Given the description of an element on the screen output the (x, y) to click on. 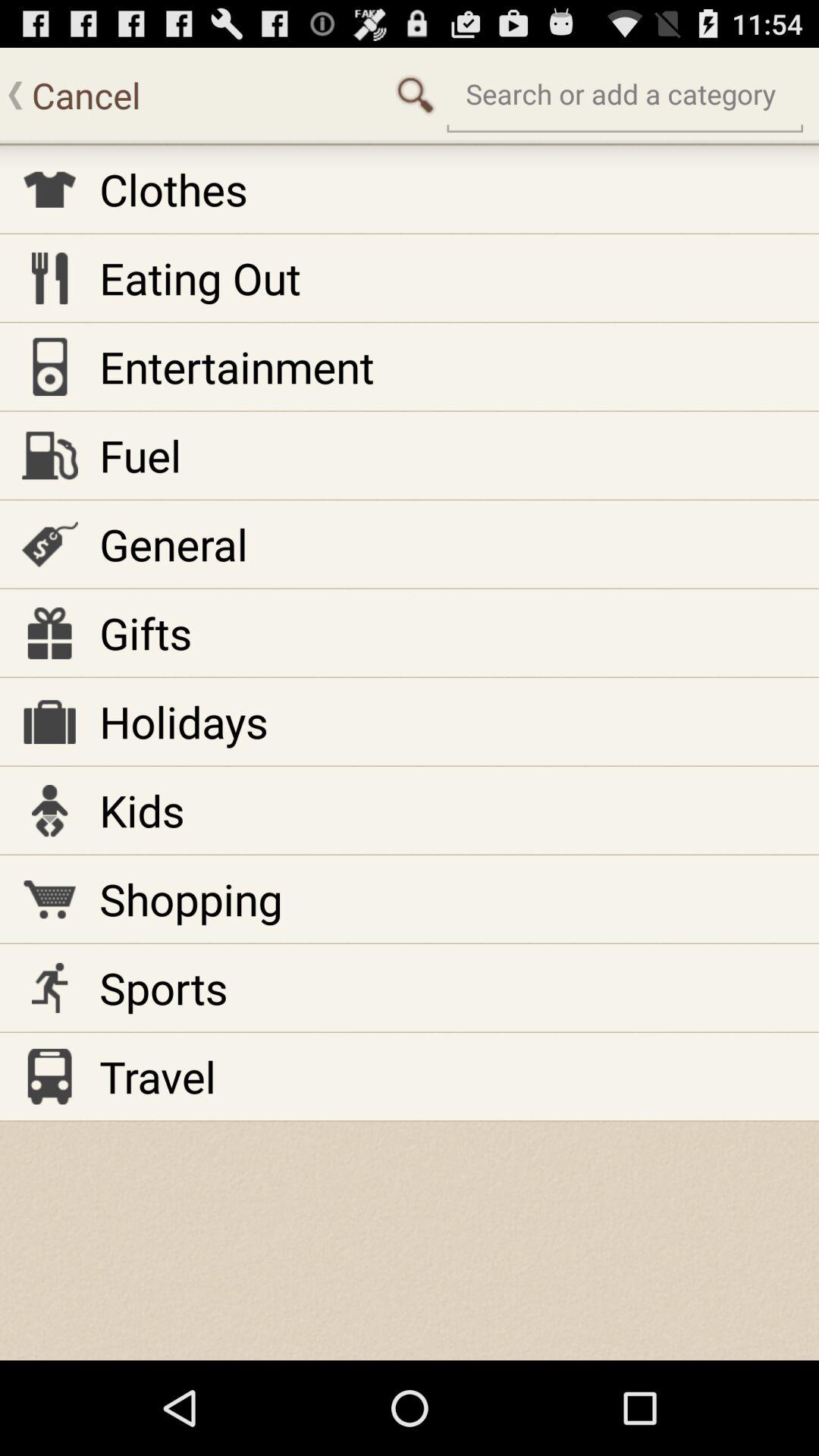
scroll until travel app (157, 1076)
